Given the description of an element on the screen output the (x, y) to click on. 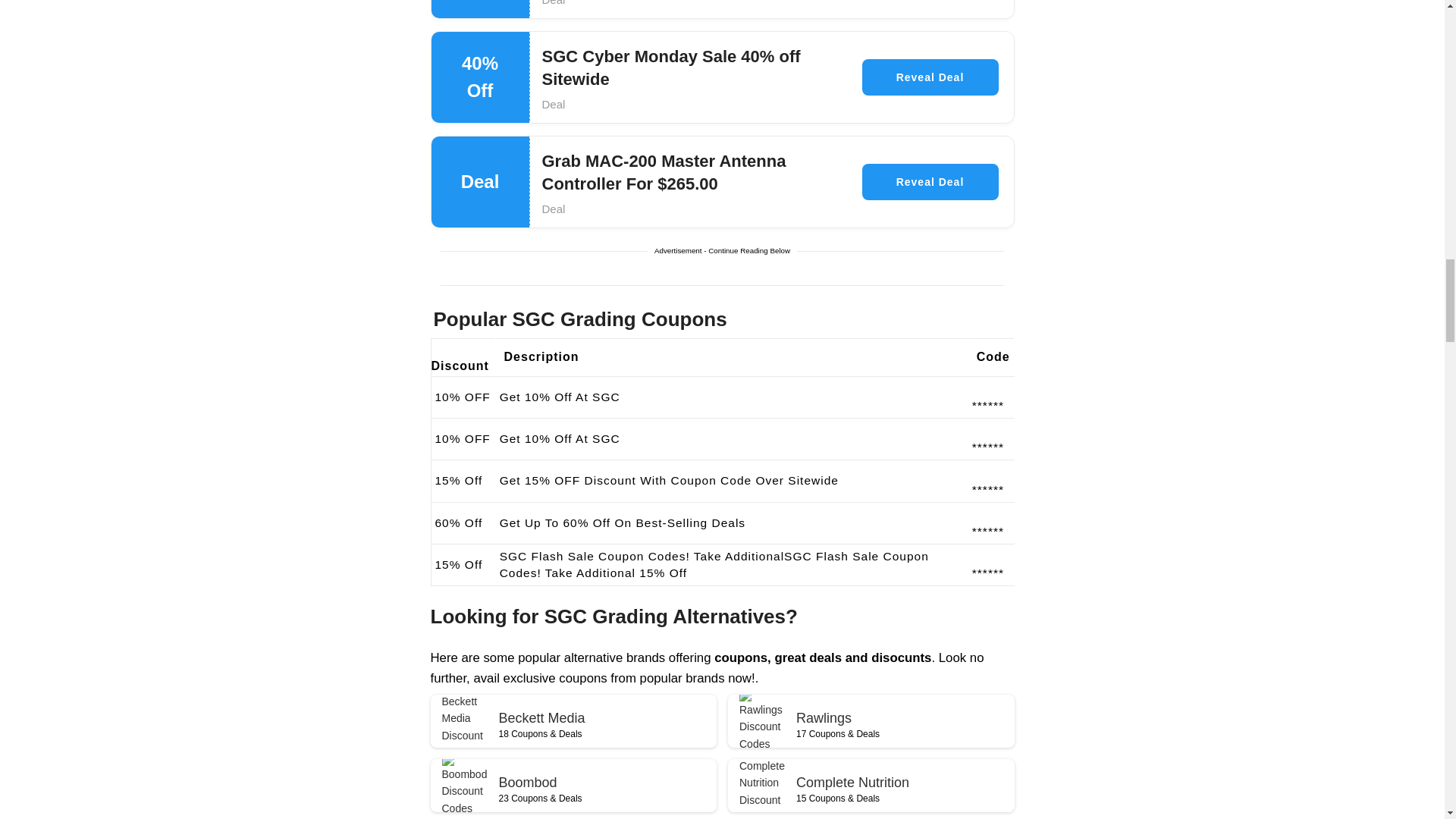
Complete Nutrition Discount Codes (871, 785)
Beckett Media Discount Codes (573, 720)
Gaiam.com Discount Codes (463, 818)
Boombod Discount Codes (573, 785)
Rawlings Discount Codes (871, 720)
